Given the description of an element on the screen output the (x, y) to click on. 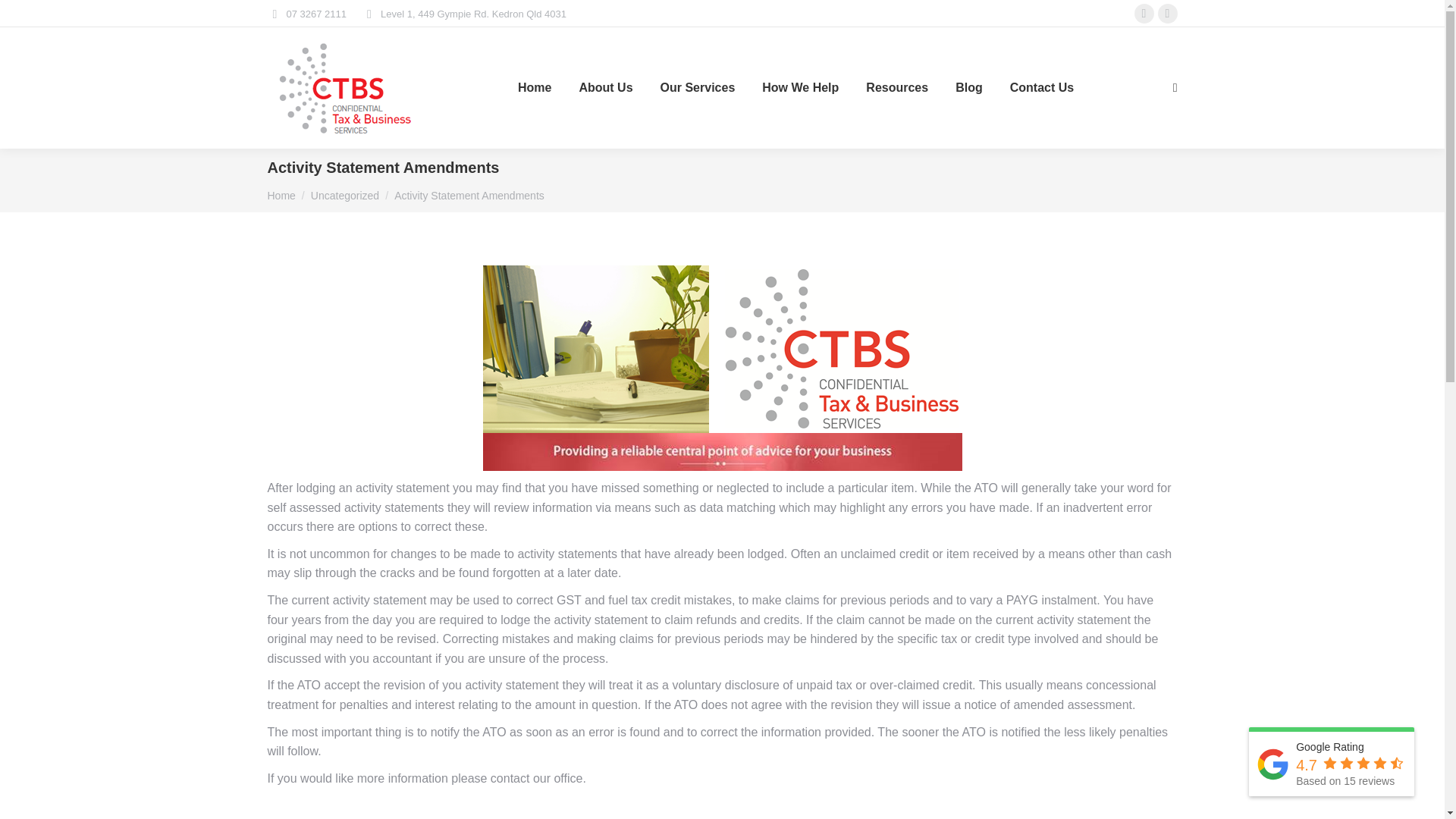
Facebook page opens in new window (1144, 13)
Go! (24, 16)
Home (280, 195)
Linkedin page opens in new window (1167, 13)
Linkedin page opens in new window (1167, 13)
07 3267 2111 (306, 12)
Facebook page opens in new window (1144, 13)
Uncategorized (344, 195)
